Given the description of an element on the screen output the (x, y) to click on. 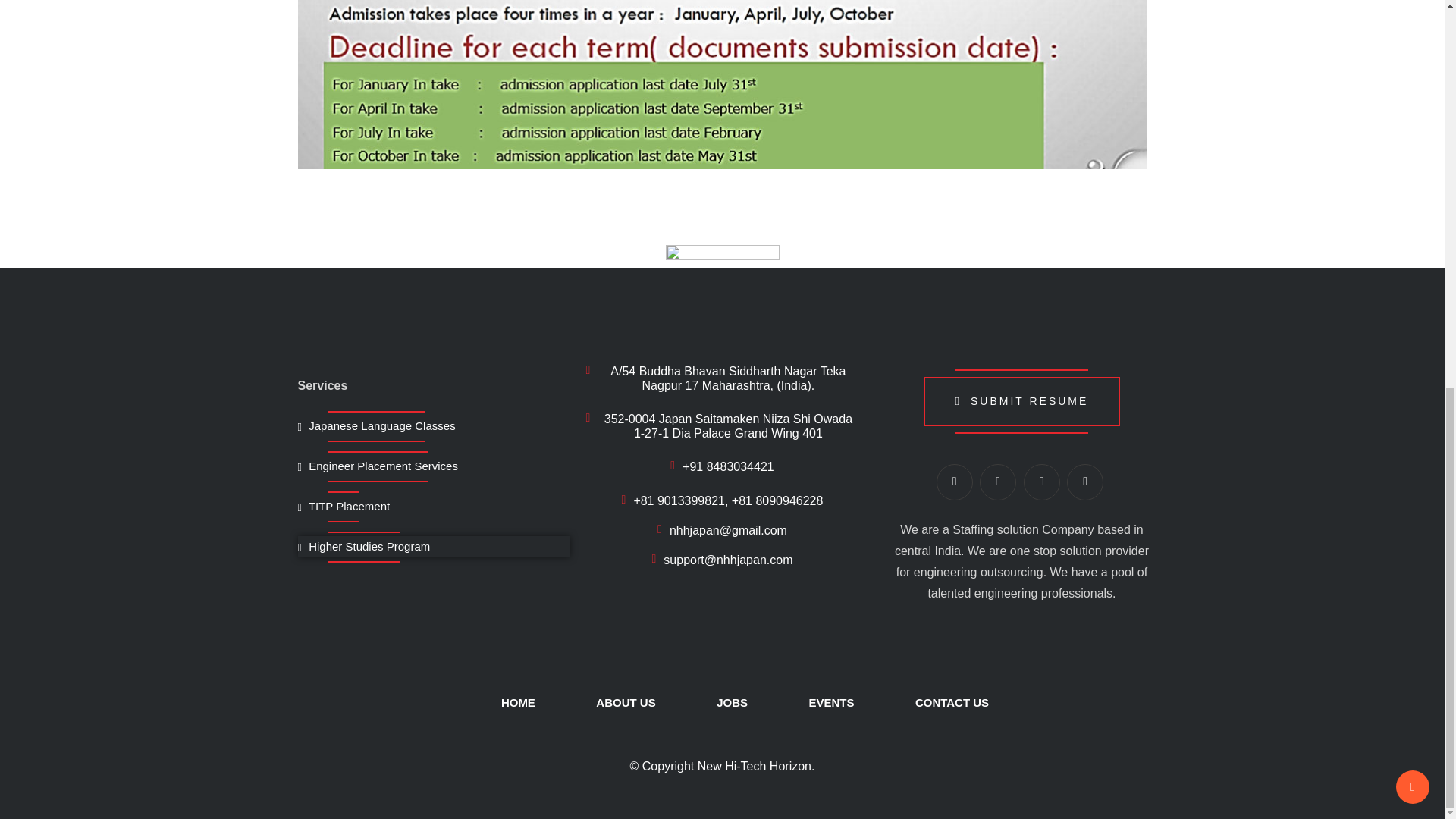
Higher Studies Program (363, 546)
Japanese Language Classes (375, 426)
SUBMIT RESUME (1022, 400)
Engineer Placement Services (377, 466)
TITP Placement (343, 506)
